Given the description of an element on the screen output the (x, y) to click on. 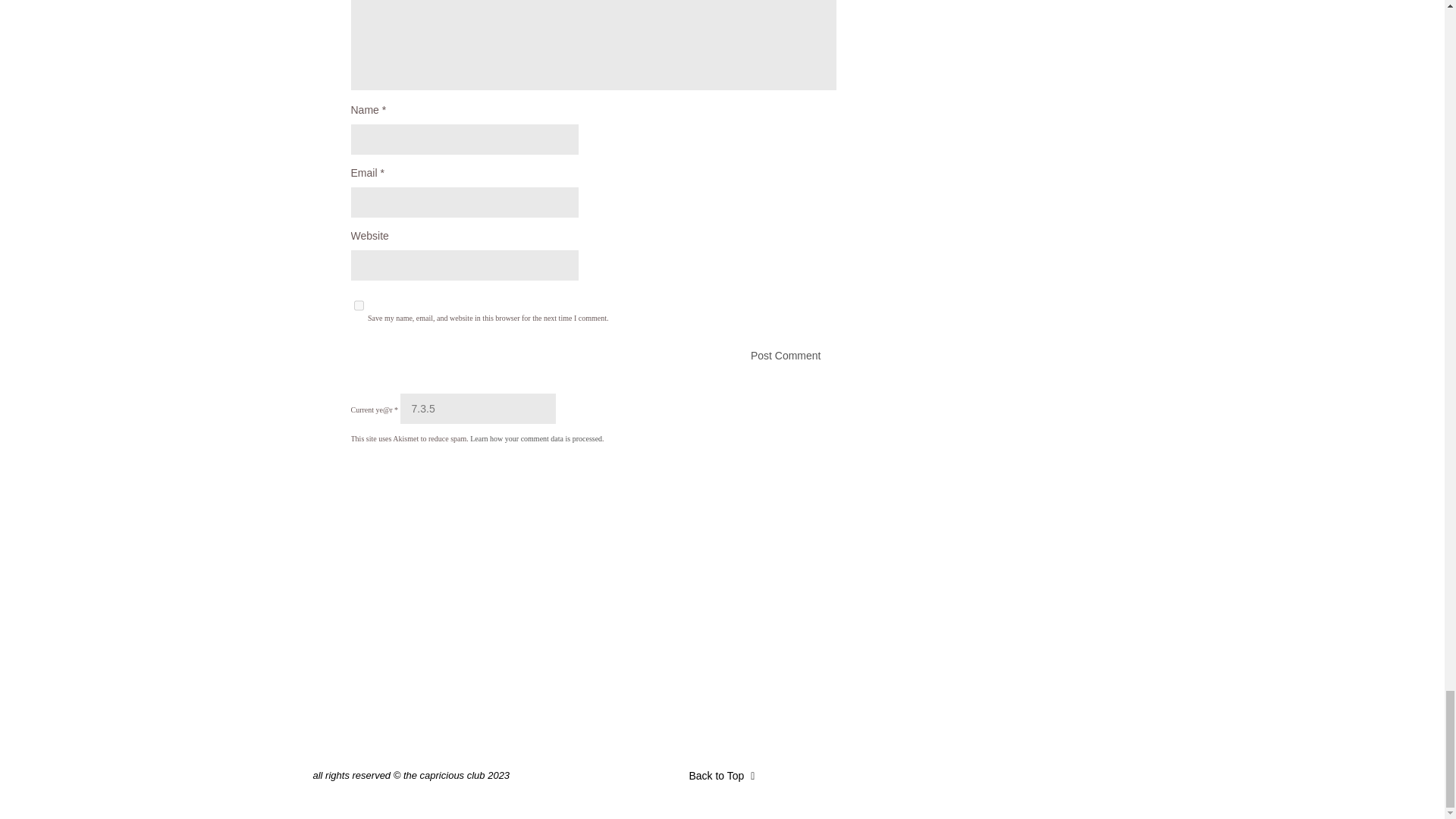
Post Comment (592, 355)
Learn how your comment data is processed (536, 438)
7.3.5 (478, 408)
Post Comment (592, 355)
